Given the description of an element on the screen output the (x, y) to click on. 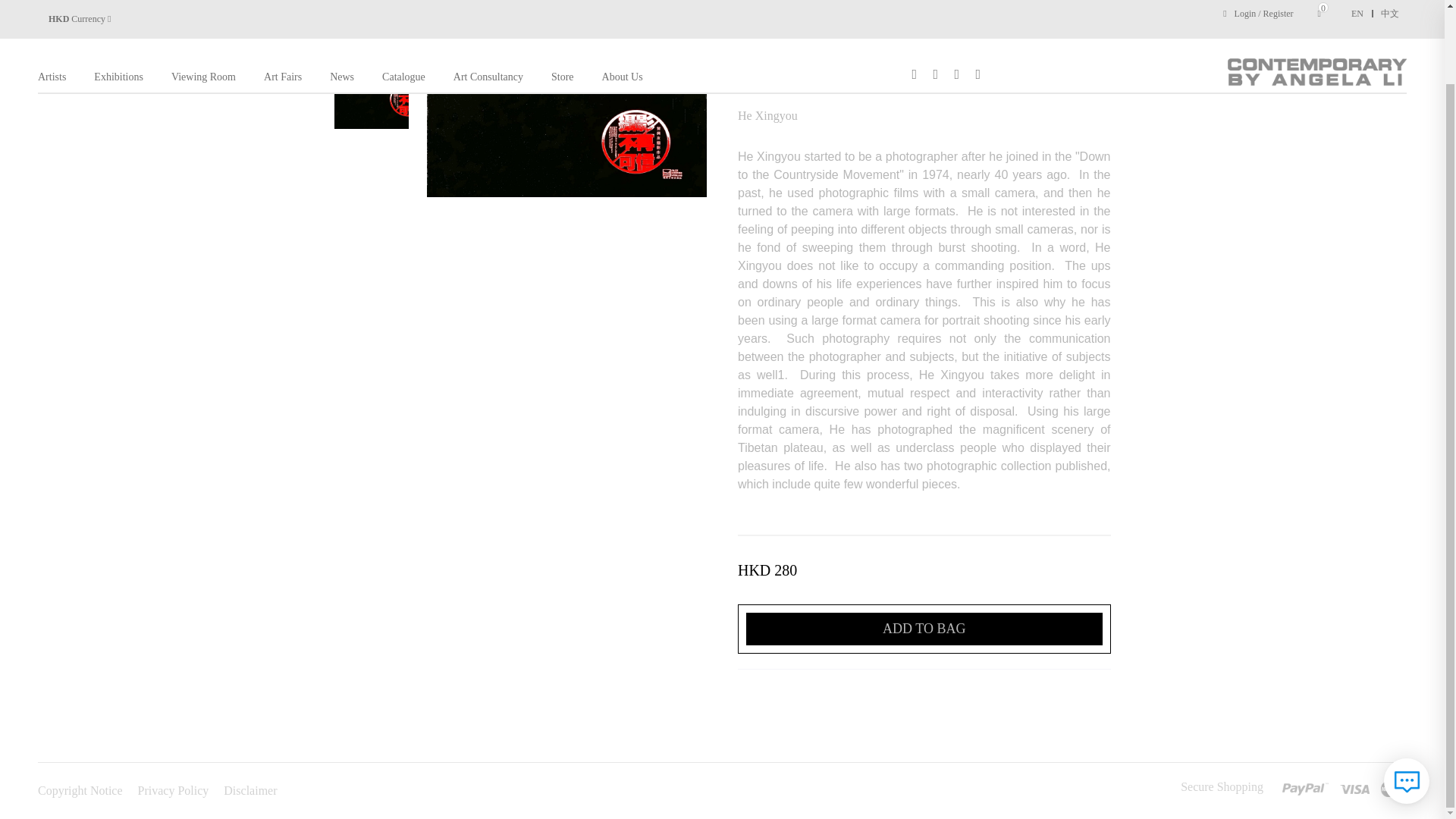
Artists (51, 1)
Art Consultancy (487, 1)
Catalogue (403, 1)
News (341, 1)
Exhibitions (118, 1)
About Us (622, 1)
Art Fairs (282, 1)
Store (562, 1)
Contemporary By Angela Li (1314, 4)
Viewing Room (203, 1)
